Given the description of an element on the screen output the (x, y) to click on. 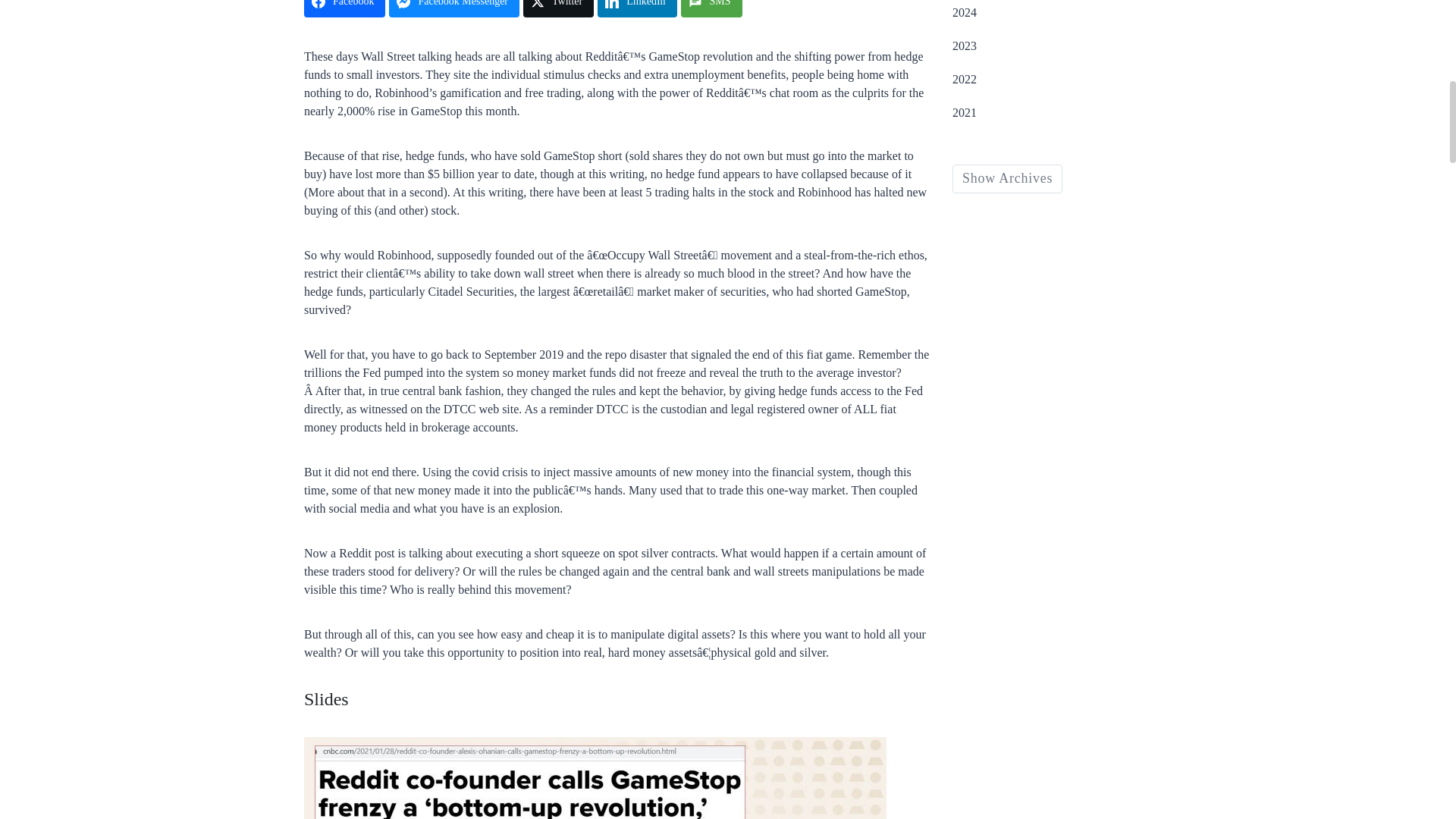
Share on Facebook (344, 8)
Facebook Messenger (453, 8)
Twitter (558, 8)
Share on SMS (711, 8)
Facebook (344, 8)
Share on Facebook Messenger (453, 8)
Share on LinkedIn (636, 8)
Share on Twitter (558, 8)
SMS (711, 8)
LinkedIn (636, 8)
